Given the description of an element on the screen output the (x, y) to click on. 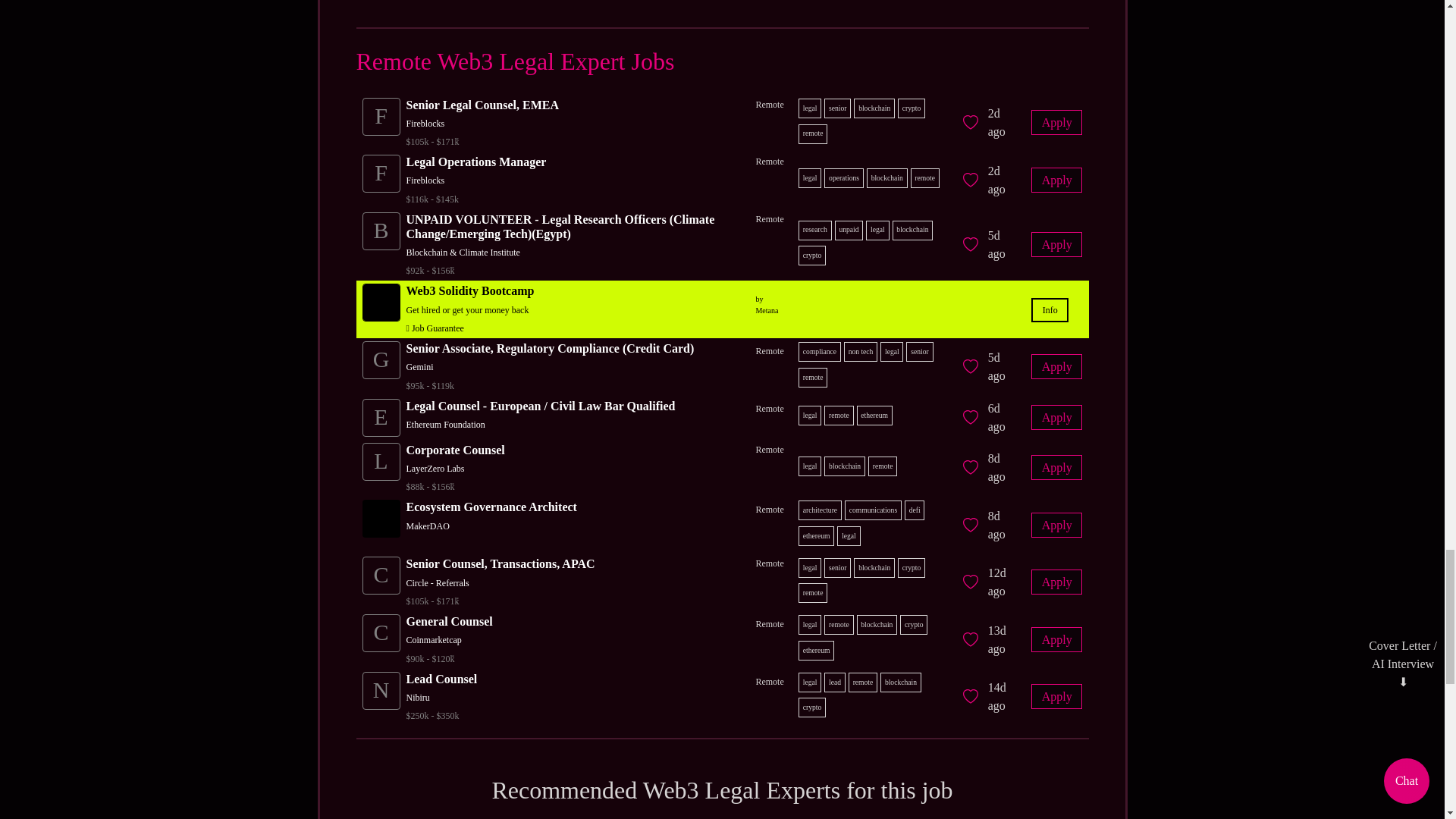
Estimated salary based on similar jobs (482, 141)
Estimated salary based on similar jobs (500, 601)
Estimated salary based on similar jobs (449, 658)
Estimated salary based on similar jobs (455, 486)
Estimated salary based on similar jobs (575, 270)
